Given the description of an element on the screen output the (x, y) to click on. 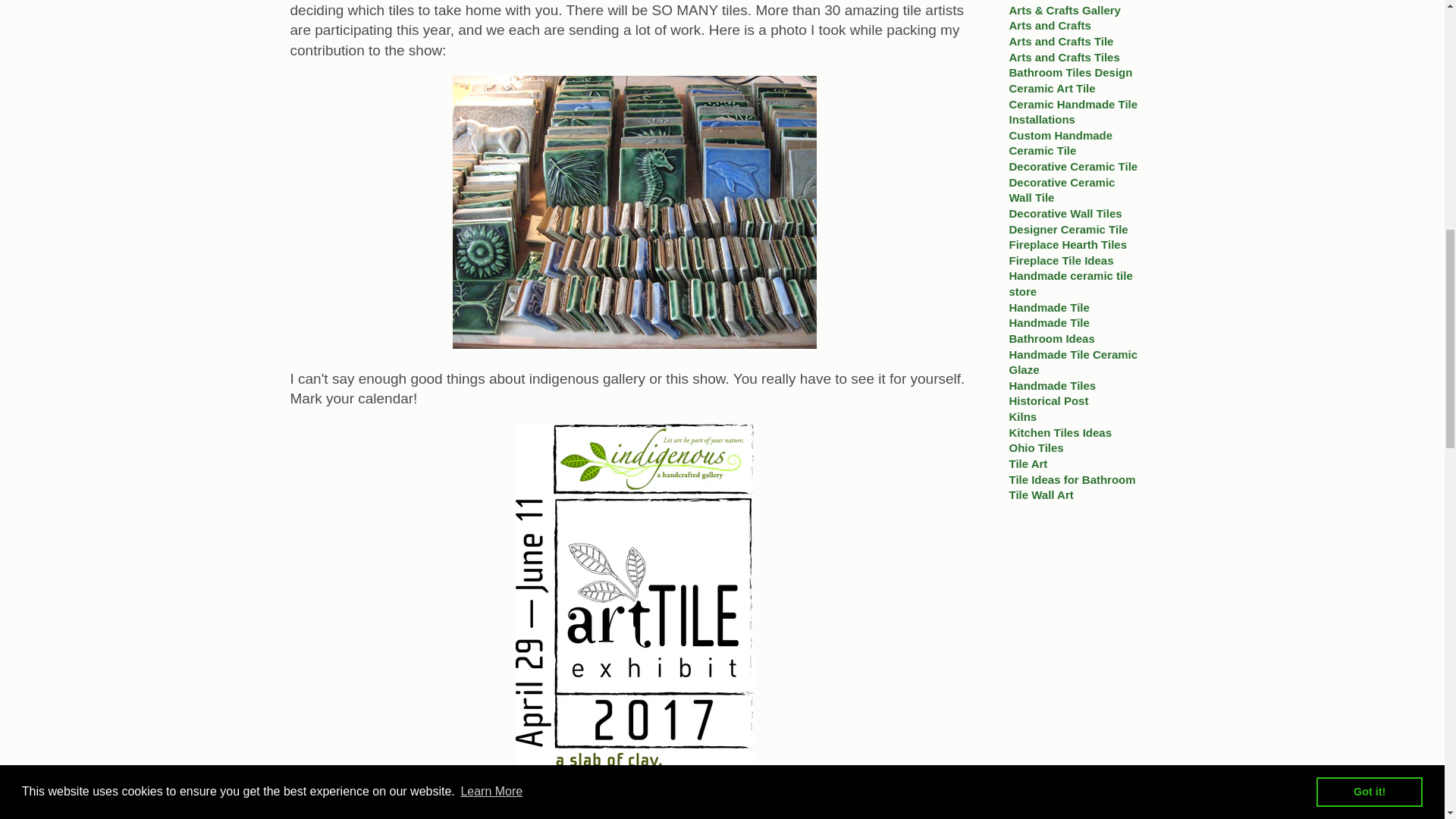
Show articles tagged Decorative Ceramic Tile (1073, 165)
Show articles tagged Handmade ceramic tile store (1070, 283)
Show articles tagged Arts and Crafts Tiles (1064, 56)
Show articles tagged Designer Ceramic Tile (1067, 228)
Show articles tagged Handmade Tile Ceramic Glaze (1073, 361)
Show articles tagged Handmade Tile (1049, 307)
Show articles tagged Fireplace Tile Ideas (1061, 259)
Show articles tagged Handmade Tile Bathroom Ideas (1051, 330)
Show articles tagged Decorative Ceramic Wall Tile (1062, 190)
Show articles tagged Bathroom Tiles Design (1070, 72)
Show articles tagged Ceramic Art Tile (1051, 88)
Show articles tagged Arts and Crafts Tile (1061, 41)
Show articles tagged Art Tile Show (1044, 0)
Show articles tagged Decorative Wall Tiles (1065, 213)
Show articles tagged Arts and Crafts (1049, 24)
